Given the description of an element on the screen output the (x, y) to click on. 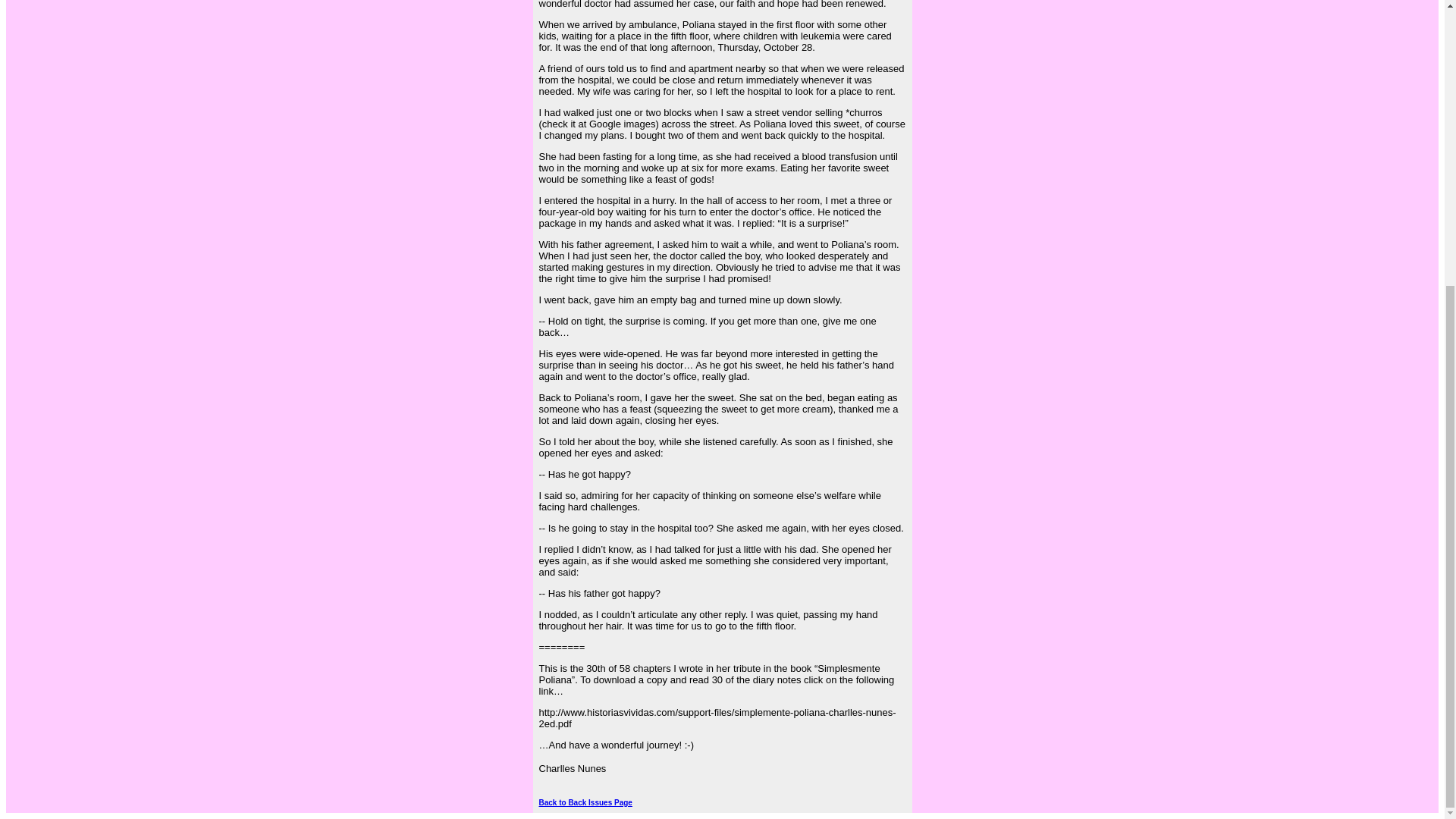
Back to Back Issues Page (584, 802)
